Given the description of an element on the screen output the (x, y) to click on. 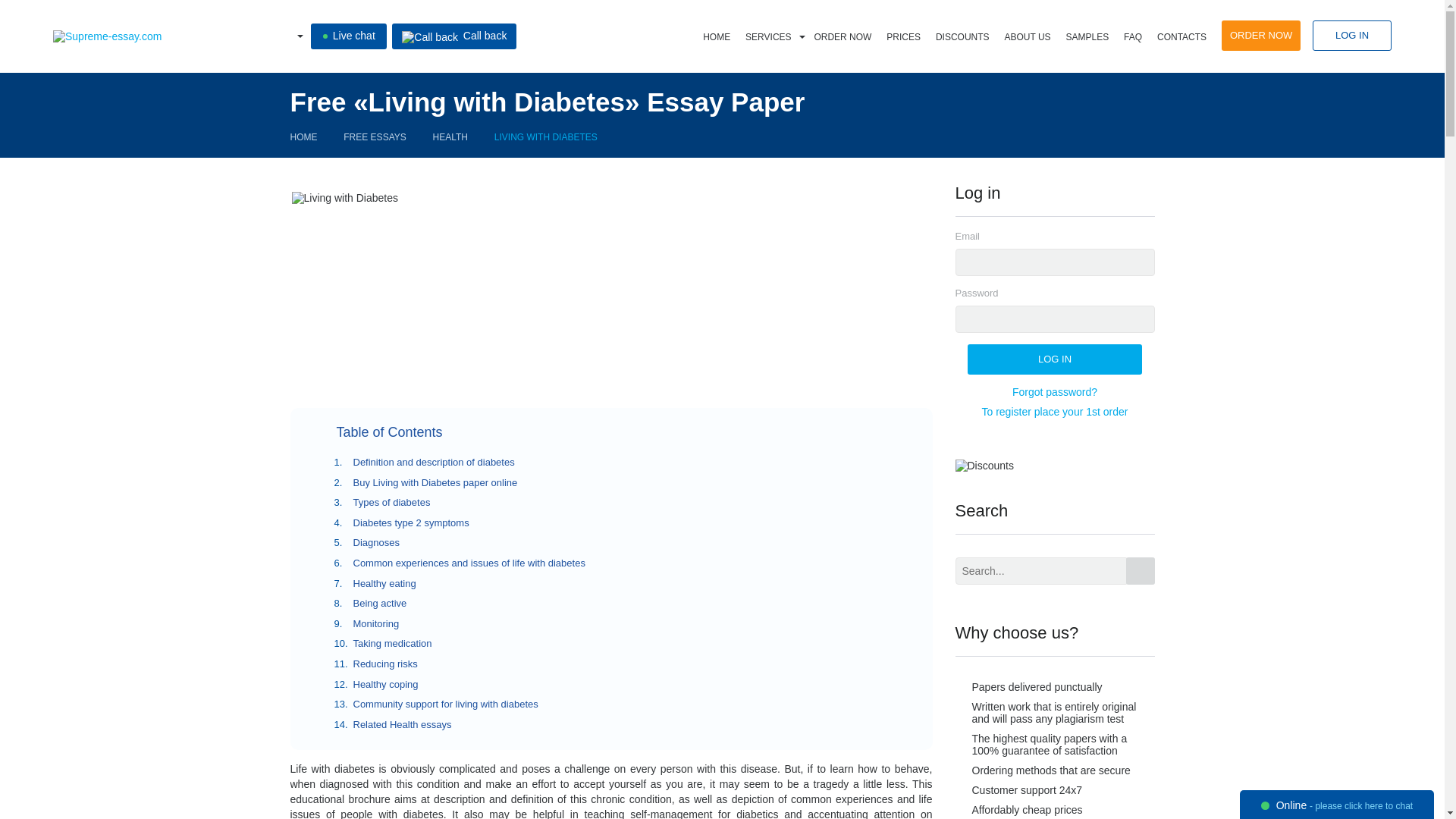
HOME (716, 36)
FREE ESSAYS (374, 136)
DISCOUNTS (962, 36)
Diagnoses (375, 542)
Taking medication (392, 643)
Healthy eating (384, 583)
Common experiences and issues of life with diabetes (469, 562)
Community support for living with diabetes (445, 704)
FAQ (1133, 36)
PRICES (903, 36)
Supreme-essay.com (106, 36)
Types of diabetes (391, 501)
SAMPLES (1087, 36)
Discounts (984, 465)
ABOUT US (1027, 36)
